Given the description of an element on the screen output the (x, y) to click on. 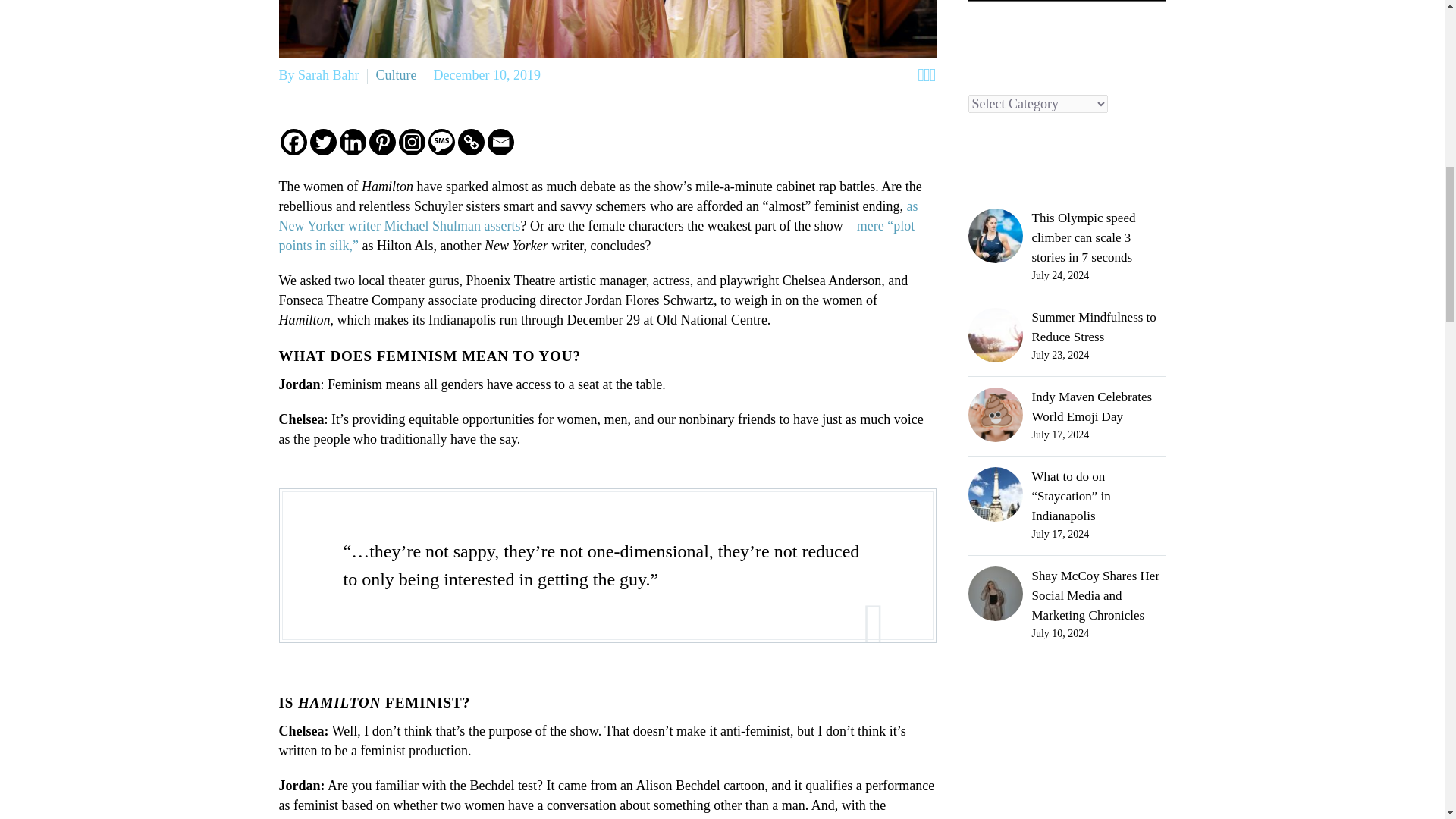
Linkedin (352, 141)
Instagram (411, 141)
Facebook (294, 141)
Email (499, 141)
View all posts in Culture (395, 74)
Pinterest (381, 141)
SMS (441, 141)
Twitter (322, 141)
Copy Link (471, 141)
